Given the description of an element on the screen output the (x, y) to click on. 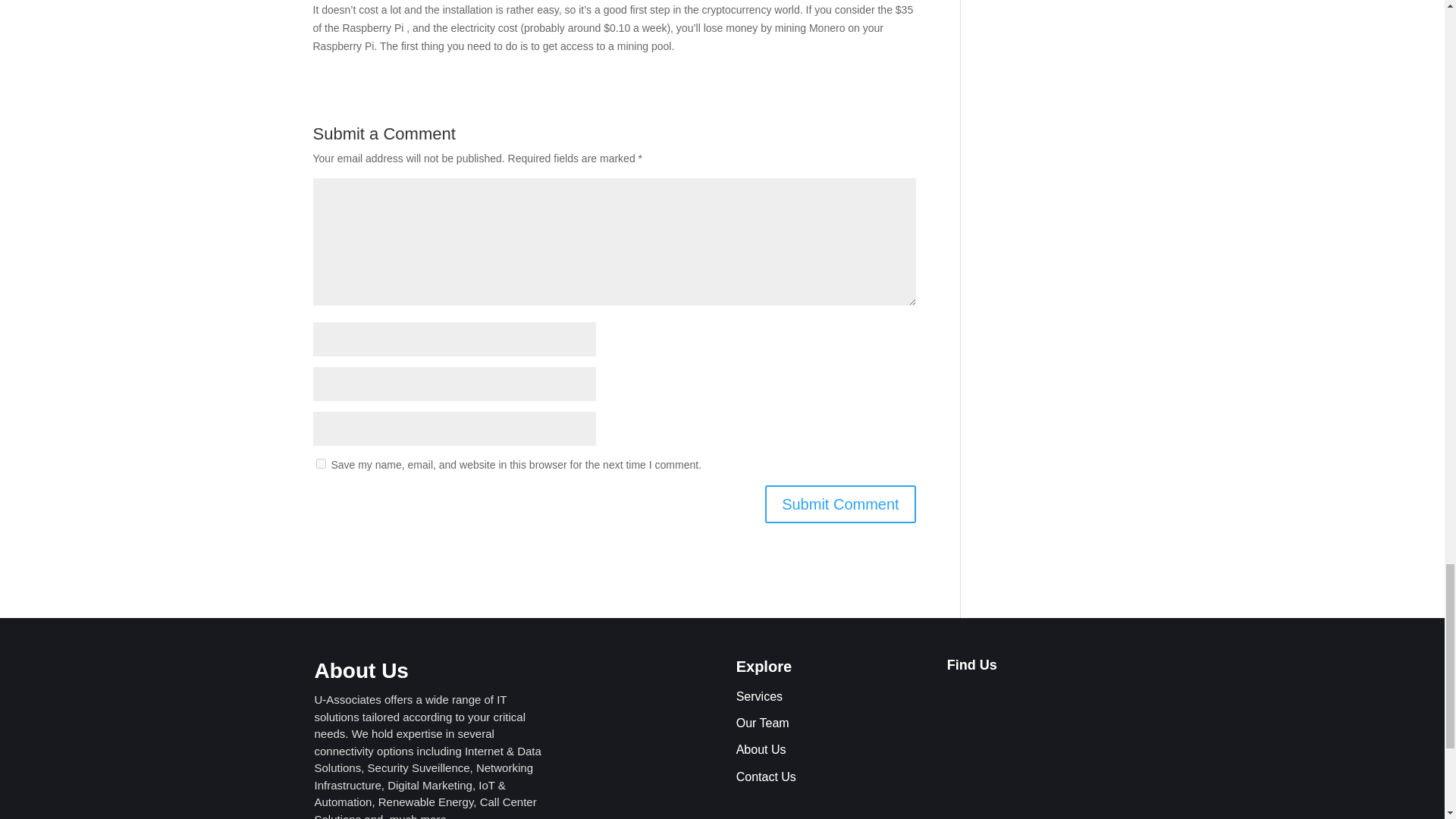
yes (319, 463)
Submit Comment (840, 504)
Our Team (762, 722)
Services (759, 696)
Submit Comment (840, 504)
